Given the description of an element on the screen output the (x, y) to click on. 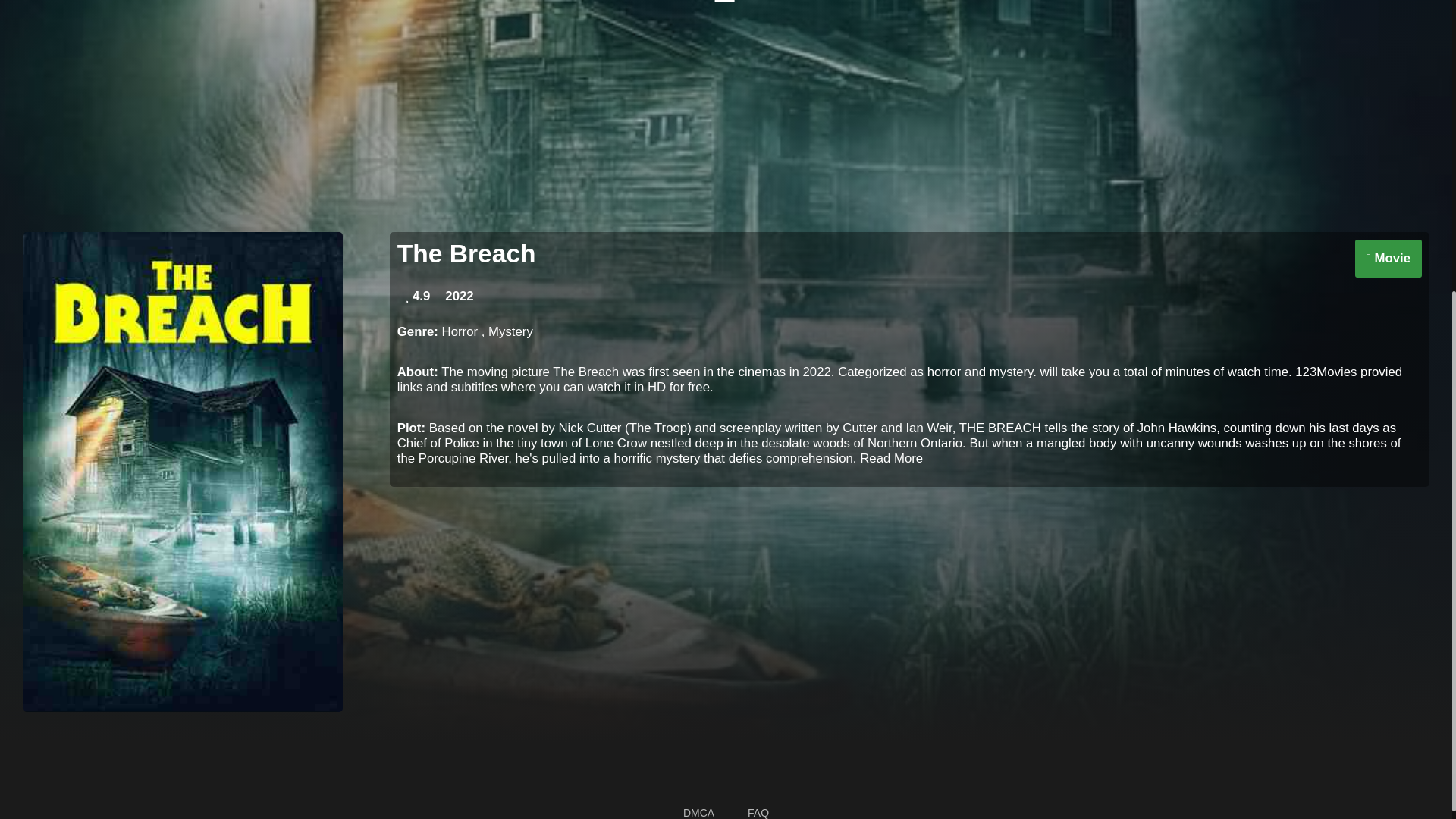
Read More (891, 458)
Release date (459, 296)
Rating (417, 296)
